Given the description of an element on the screen output the (x, y) to click on. 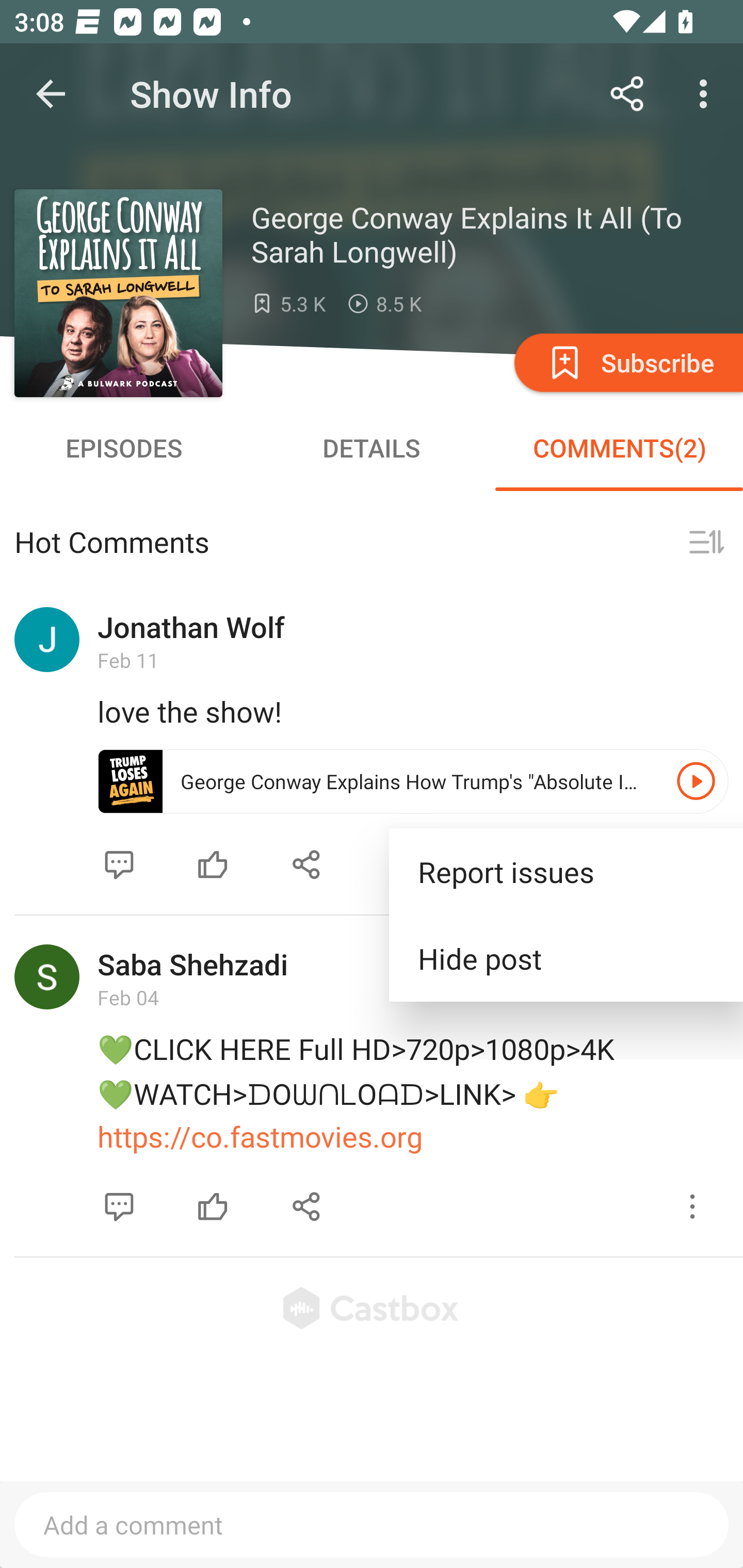
Report issues (566, 871)
Hide post (566, 958)
